Given the description of an element on the screen output the (x, y) to click on. 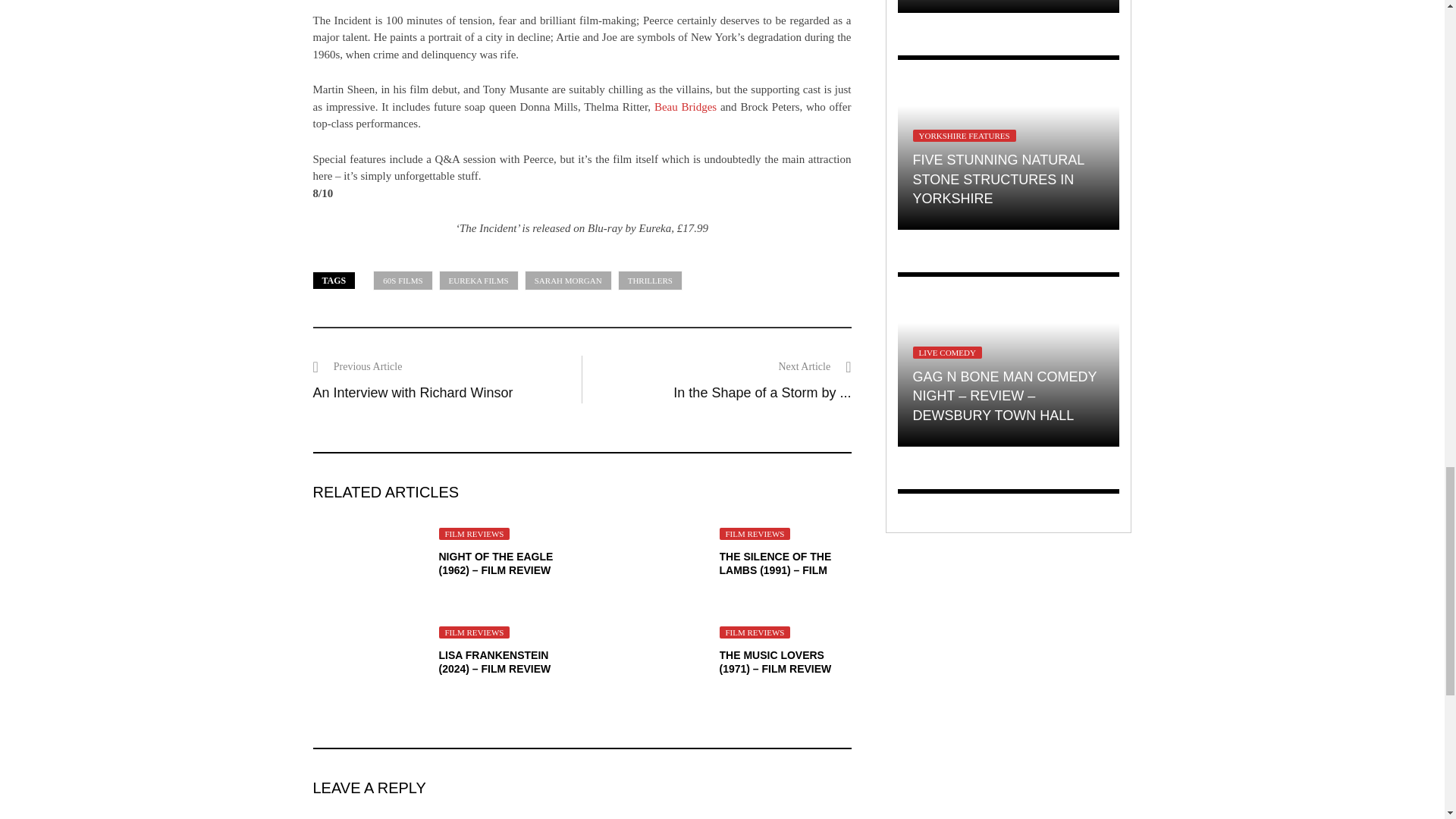
View all posts tagged 60s Films (402, 281)
View all posts tagged Thrillers (649, 281)
View all posts tagged Eureka Films (478, 281)
View all posts tagged Sarah Morgan (567, 281)
